Given the description of an element on the screen output the (x, y) to click on. 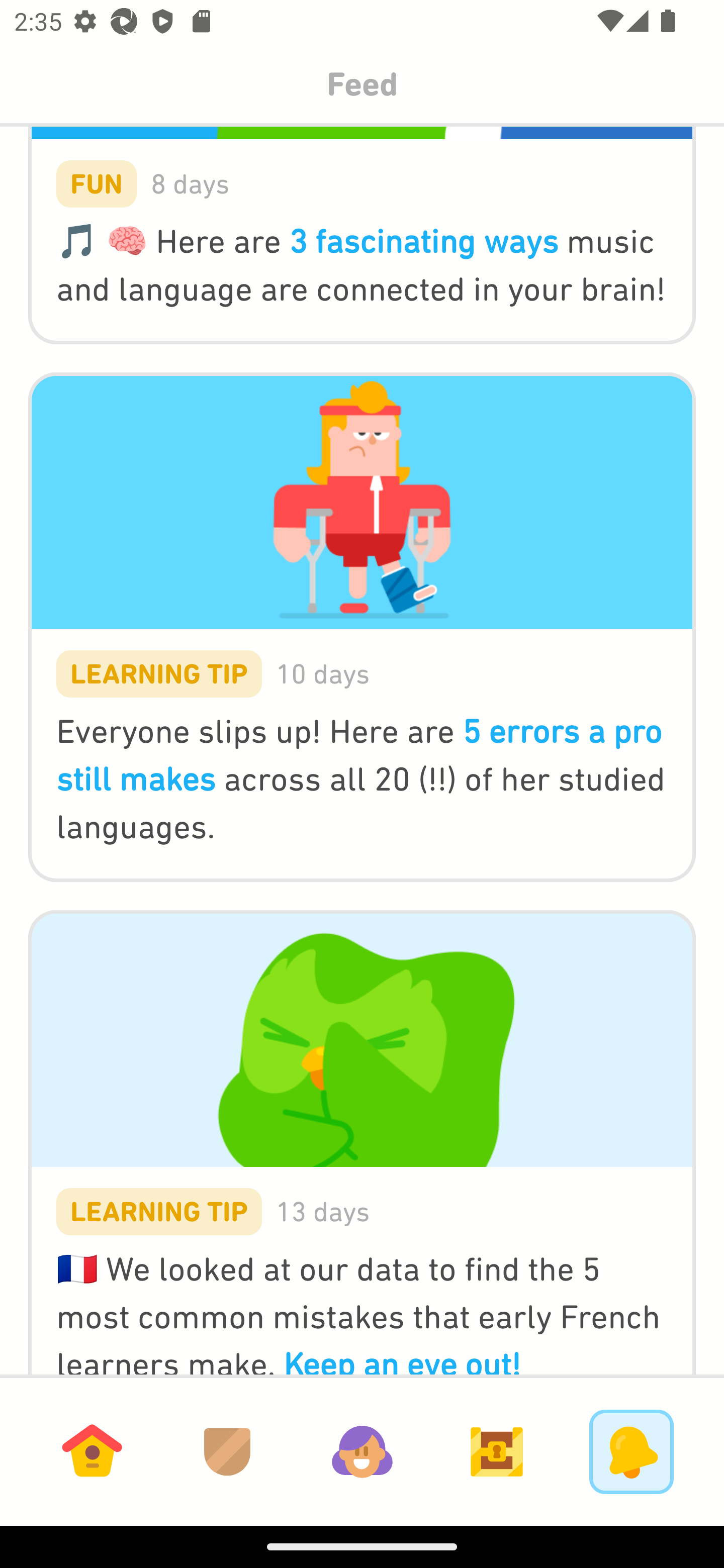
Learn Tab (91, 1451)
Leagues Tab (227, 1451)
Profile Tab (361, 1451)
Goals Tab (496, 1451)
News Tab (631, 1451)
